Given the description of an element on the screen output the (x, y) to click on. 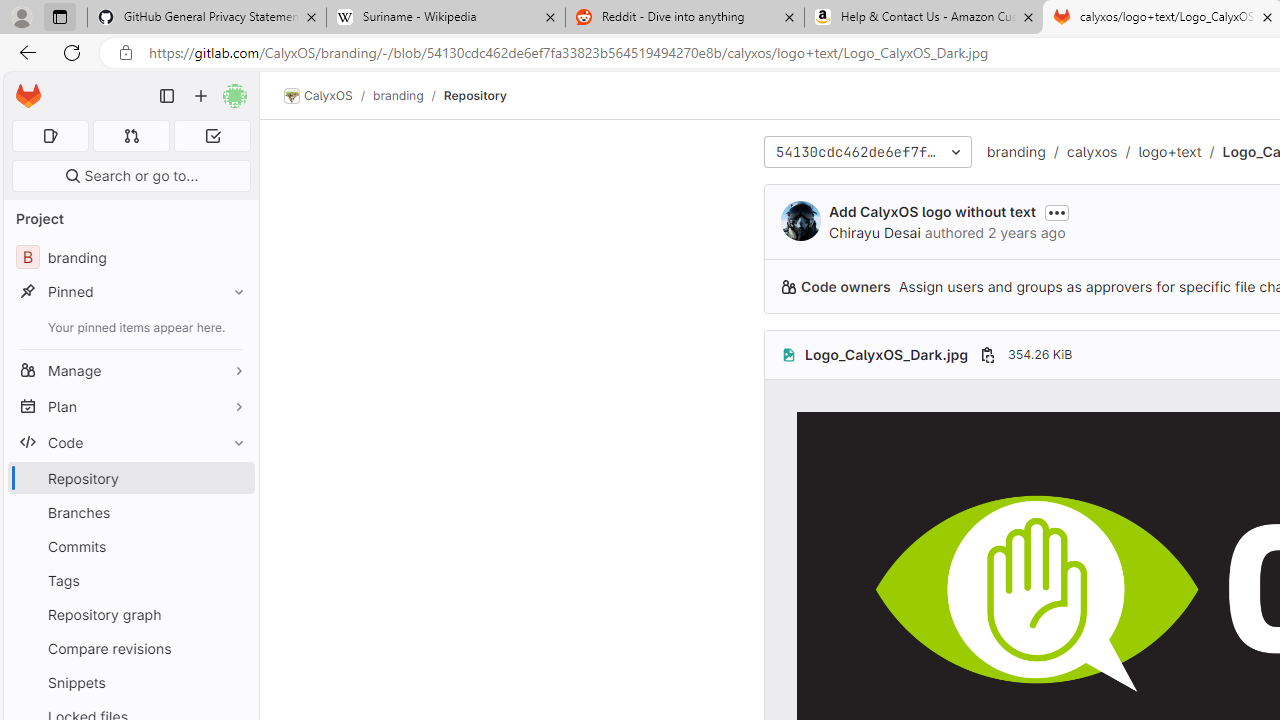
Branches (130, 512)
Plan (130, 406)
CalyxOS (318, 96)
Pin Compare revisions (234, 647)
Repository (474, 95)
CalyxOS/ (328, 96)
Primary navigation sidebar (167, 96)
Pin Commits (234, 546)
Add CalyxOS logo without text (932, 211)
Create new... (201, 96)
Pinned (130, 291)
Pin Repository (234, 478)
Pin Repository graph (234, 614)
Repository graph (130, 614)
